Given the description of an element on the screen output the (x, y) to click on. 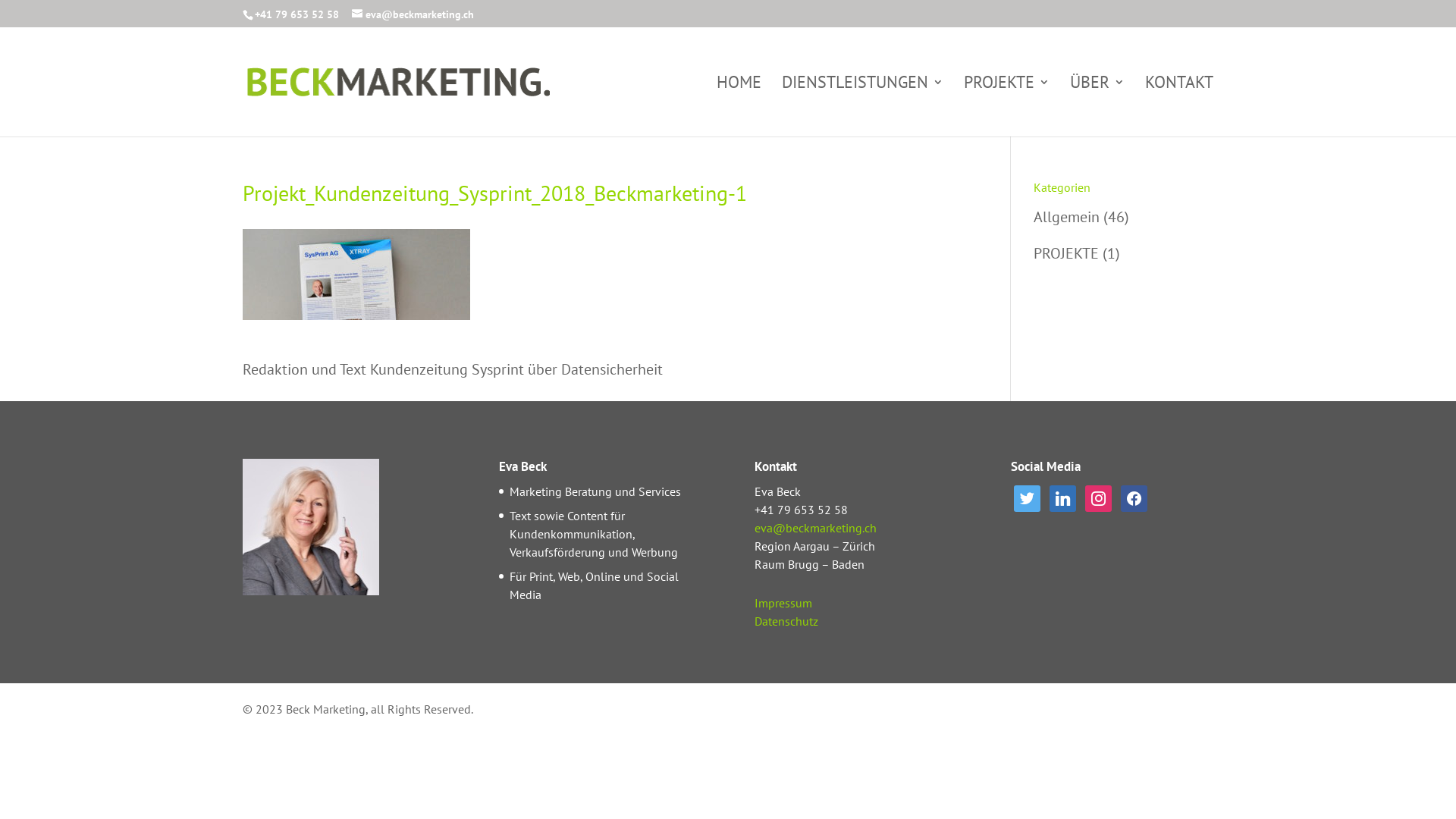
Datenschutz Element type: text (786, 620)
HOME Element type: text (738, 106)
eva@beckmarketing.ch Element type: text (815, 527)
instagram Element type: text (1098, 496)
eva@beckmarketing.ch Element type: text (412, 14)
twitter Element type: text (1026, 496)
facebook Element type: text (1133, 496)
DIENSTLEISTUNGEN Element type: text (862, 106)
PROJEKTE Element type: text (1006, 106)
Allgemein Element type: text (1066, 216)
linkedin Element type: text (1062, 496)
KONTAKT Element type: text (1179, 106)
Impressum Element type: text (783, 602)
PROJEKTE Element type: text (1065, 253)
